Given the description of an element on the screen output the (x, y) to click on. 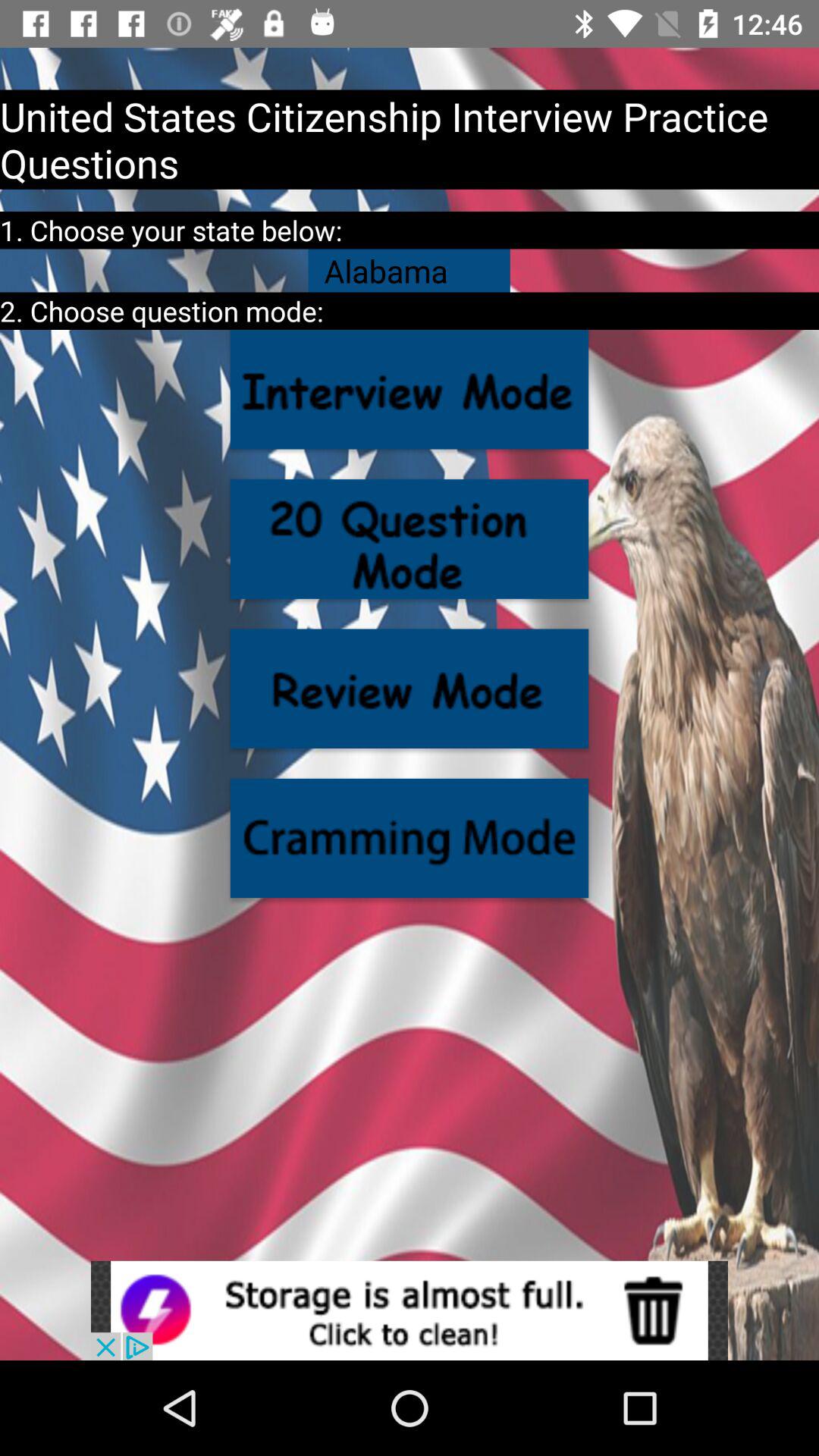
to see question mode (409, 538)
